Given the description of an element on the screen output the (x, y) to click on. 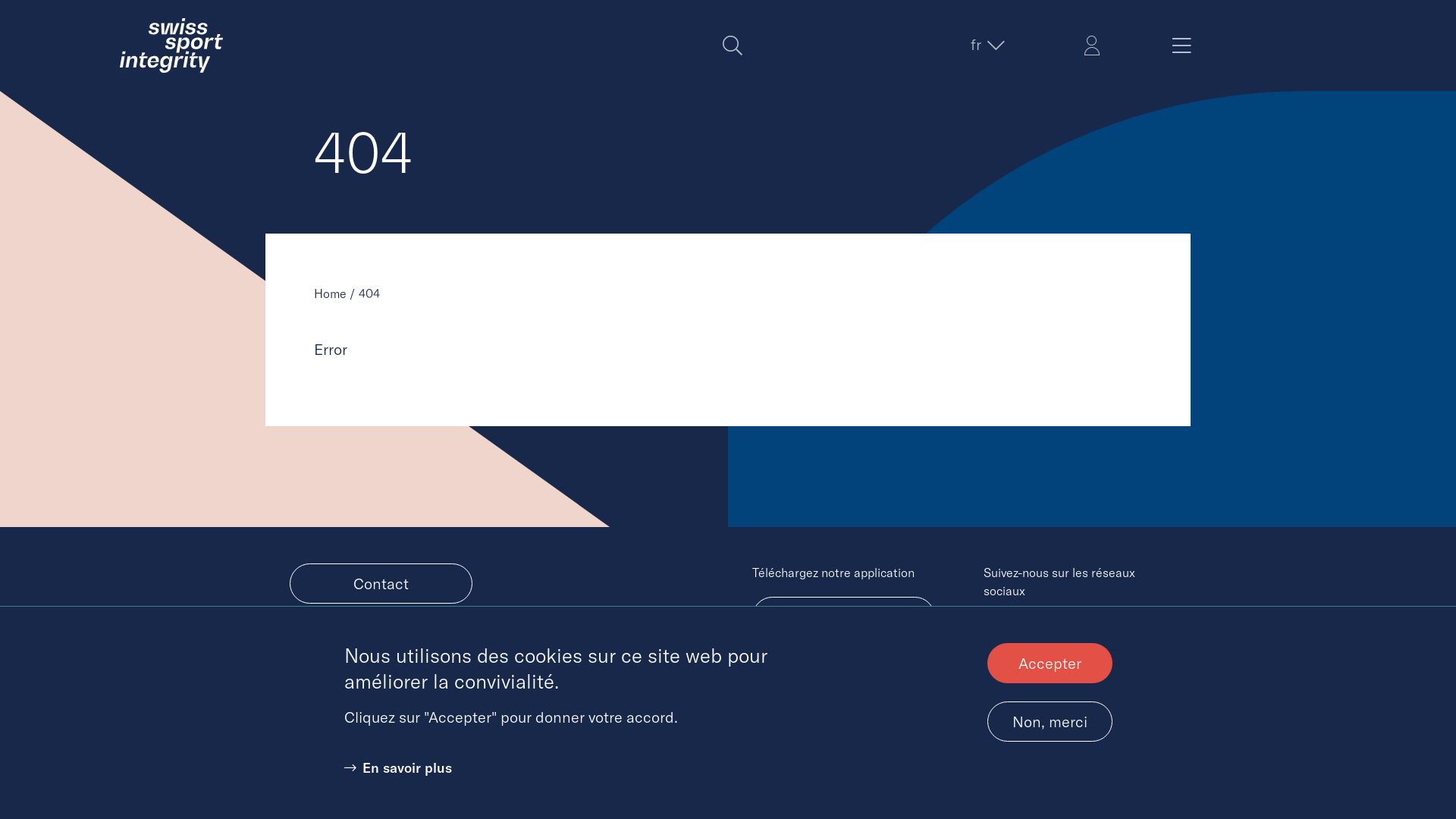
Instagram Element type: text (1089, 630)
Search Element type: text (732, 45)
Facebook Element type: text (1044, 630)
iOS Element type: text (843, 669)
Login Simon Element type: text (1091, 45)
En savoir plus Element type: text (397, 767)
Twitter Element type: text (998, 630)
Contact Element type: text (380, 583)
Accepter Element type: text (1049, 663)
Home Element type: hover (170, 45)
Signaler un incident Element type: text (380, 642)
fr Element type: text (985, 44)
Impressum Element type: text (782, 754)
Android Element type: text (843, 616)
Non, merci Element type: text (1049, 721)
Menu Element type: text (1181, 45)
Home Element type: text (329, 293)
